Given the description of an element on the screen output the (x, y) to click on. 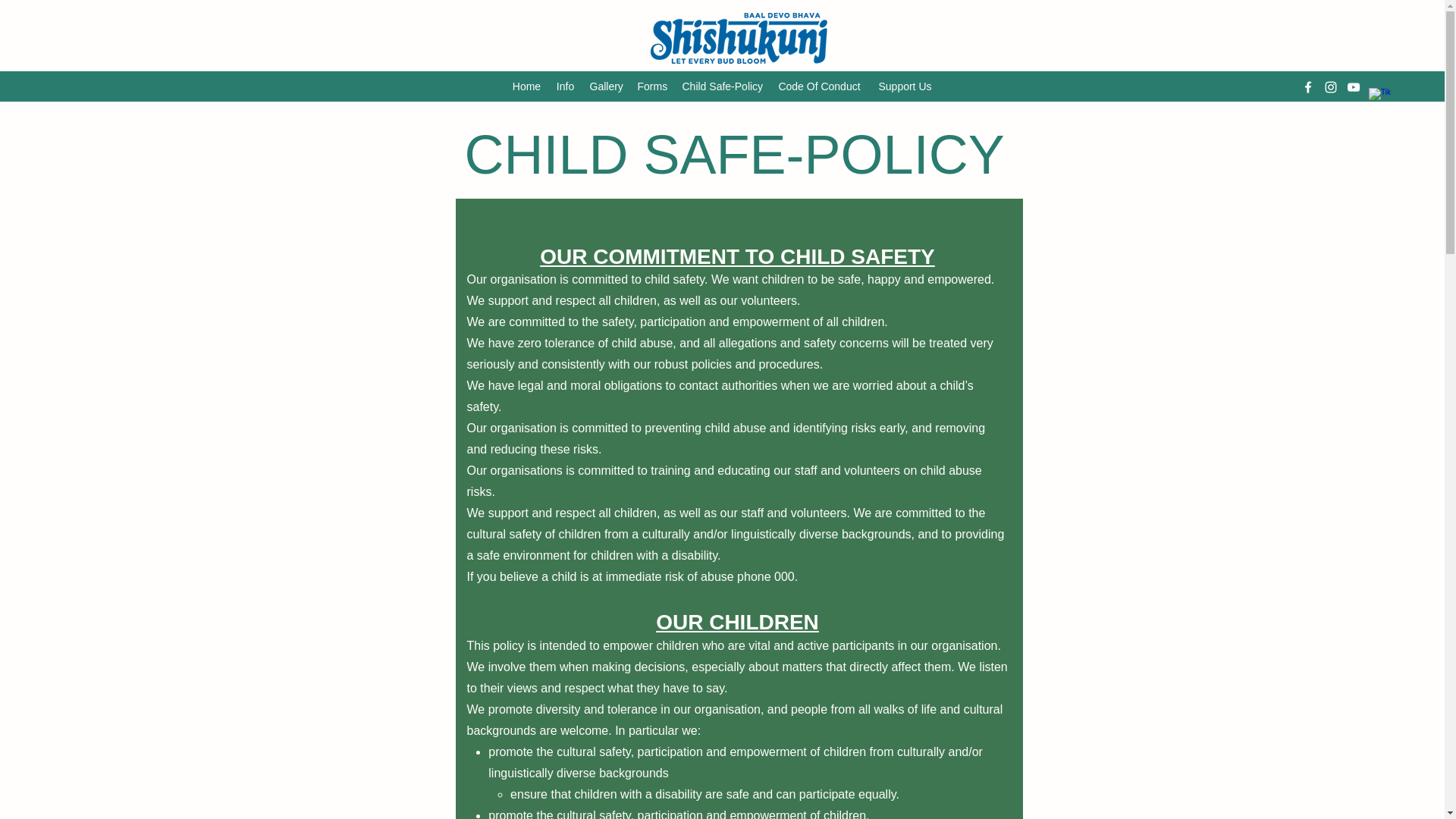
Info (565, 86)
website-logo.png (738, 38)
Home (526, 86)
Child Safe-Policy (721, 86)
Gallery (606, 86)
Code Of Conduct (819, 86)
Support Us (905, 86)
Forms (651, 86)
